Given the description of an element on the screen output the (x, y) to click on. 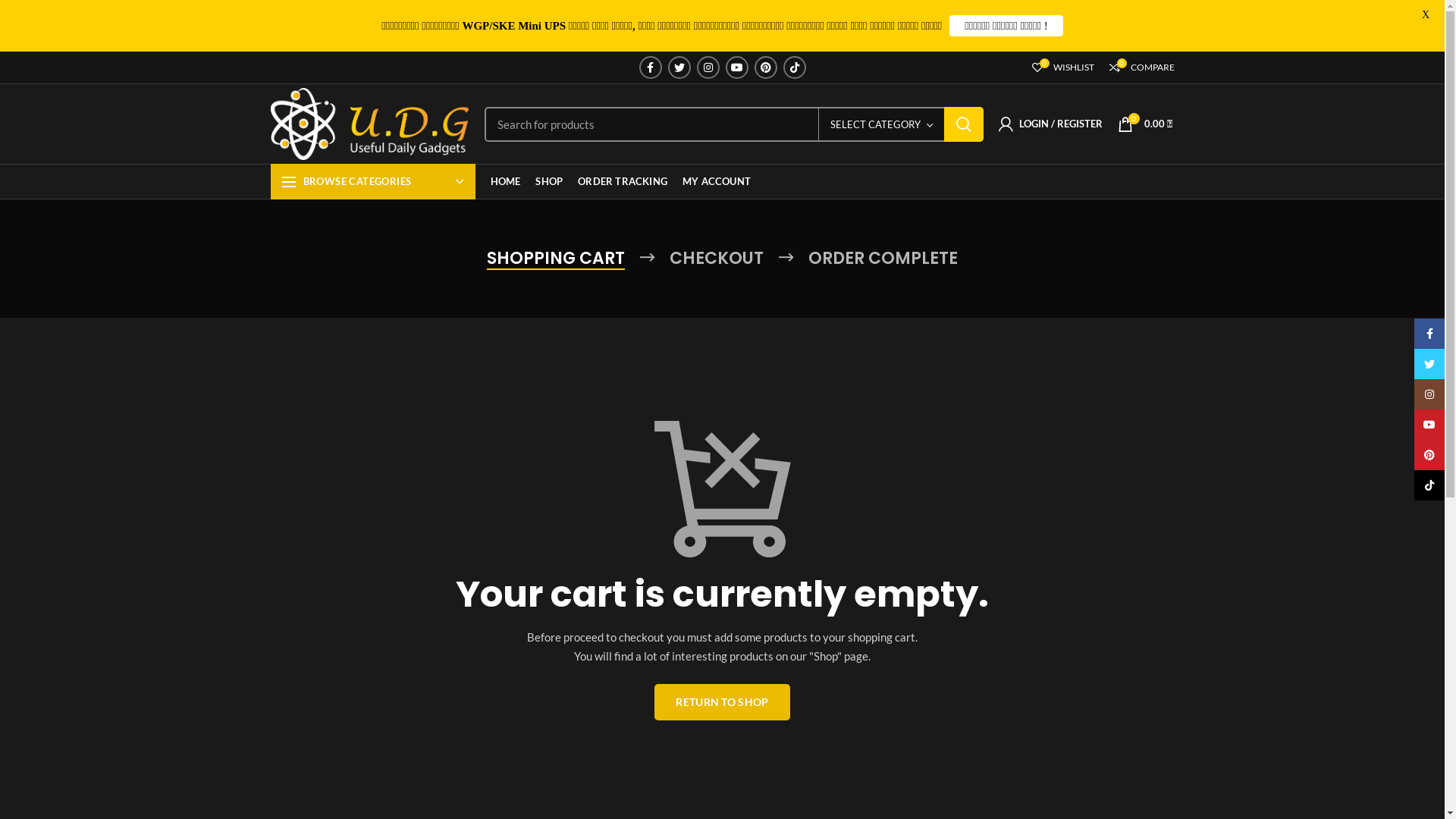
ORDER TRACKING Element type: text (622, 181)
Twitter Element type: text (678, 67)
MY ACCOUNT Element type: text (716, 181)
Pinterest Element type: text (764, 67)
HOME Element type: text (504, 181)
RETURN TO SHOP Element type: text (721, 702)
Facebook Element type: text (649, 67)
SHOP Element type: text (548, 181)
TikTok Element type: text (793, 67)
SHOPPING CART Element type: text (555, 258)
CHECKOUT Element type: text (716, 258)
SELECT CATEGORY Element type: text (881, 124)
Log in Element type: text (800, 253)
SEARCH Element type: text (962, 123)
LOGIN / REGISTER Element type: text (1049, 124)
0
COMPARE Element type: text (1141, 67)
Log in Element type: text (976, 351)
Instagram Element type: text (707, 67)
0
WISHLIST Element type: text (1062, 67)
YouTube Element type: text (735, 67)
